Given the description of an element on the screen output the (x, y) to click on. 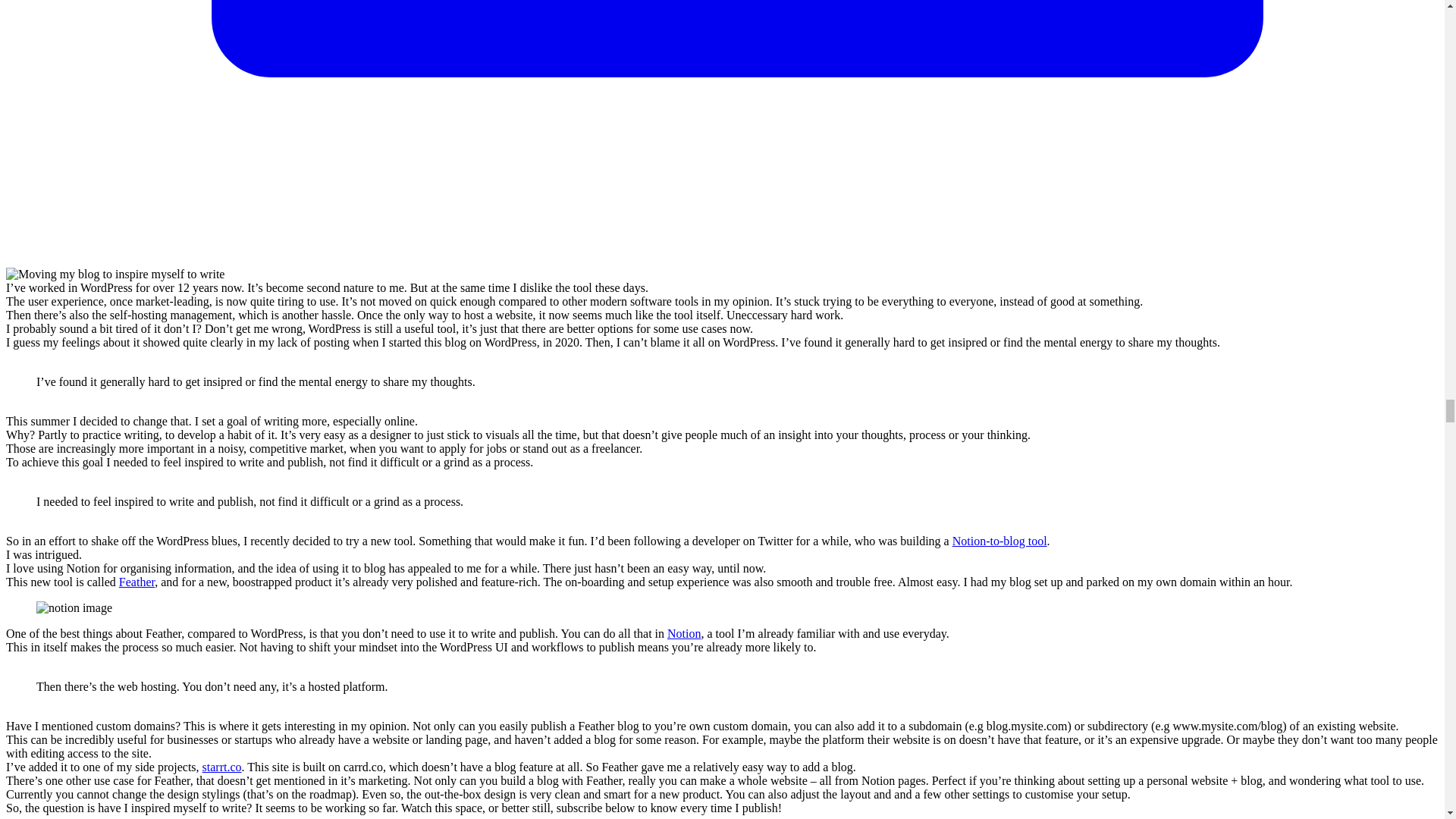
starrt.co (221, 766)
Notion (683, 633)
Notion-to-blog tool (999, 540)
Feather (136, 581)
